Given the description of an element on the screen output the (x, y) to click on. 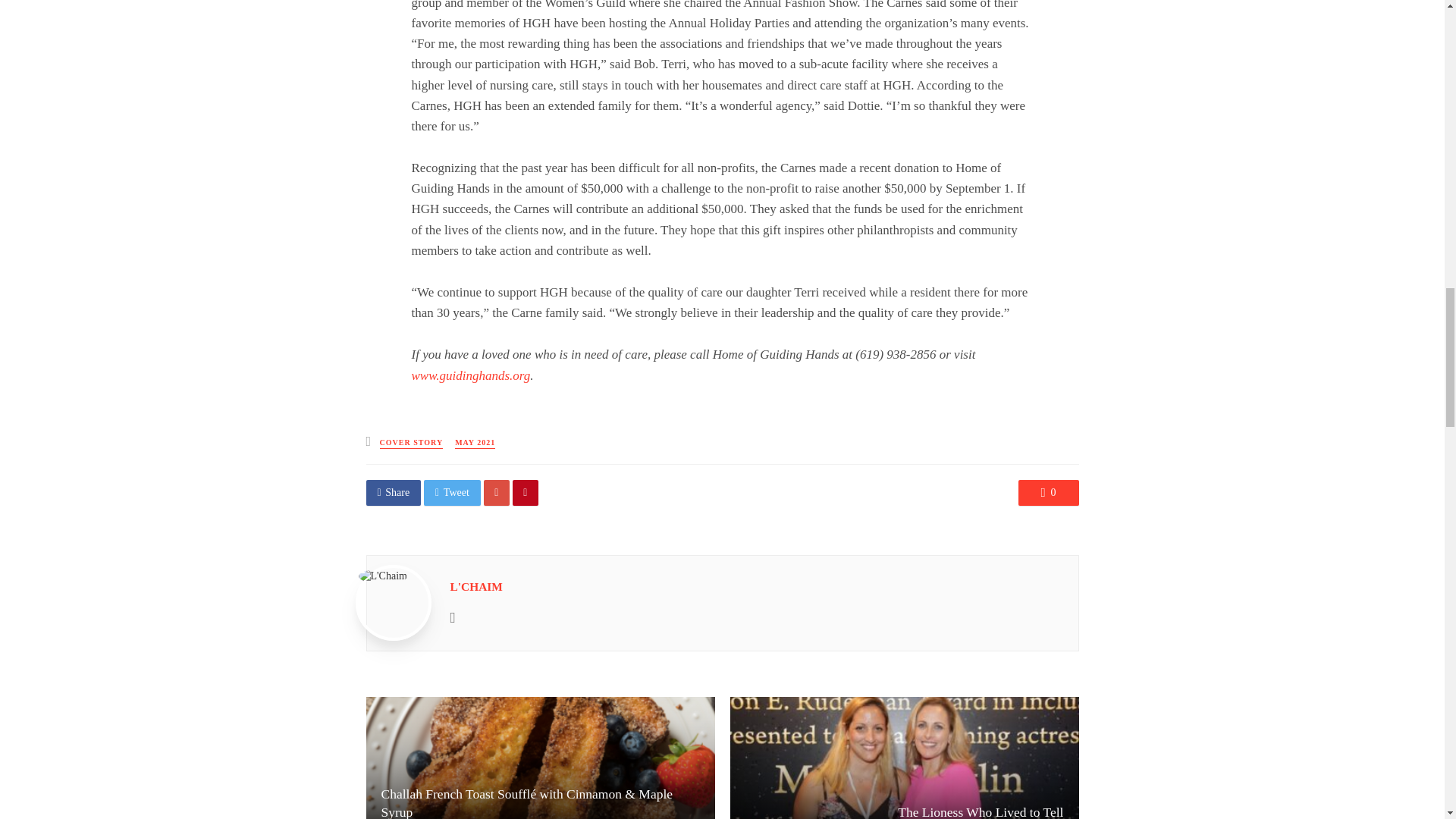
L'CHAIM (475, 585)
Share (392, 492)
Share on Twitter (451, 492)
www.guidinghands.org (469, 375)
Tweet (451, 492)
Share on Facebook (392, 492)
COVER STORY (412, 442)
0 (1047, 492)
0 Comments (1047, 492)
MAY 2021 (474, 442)
